Given the description of an element on the screen output the (x, y) to click on. 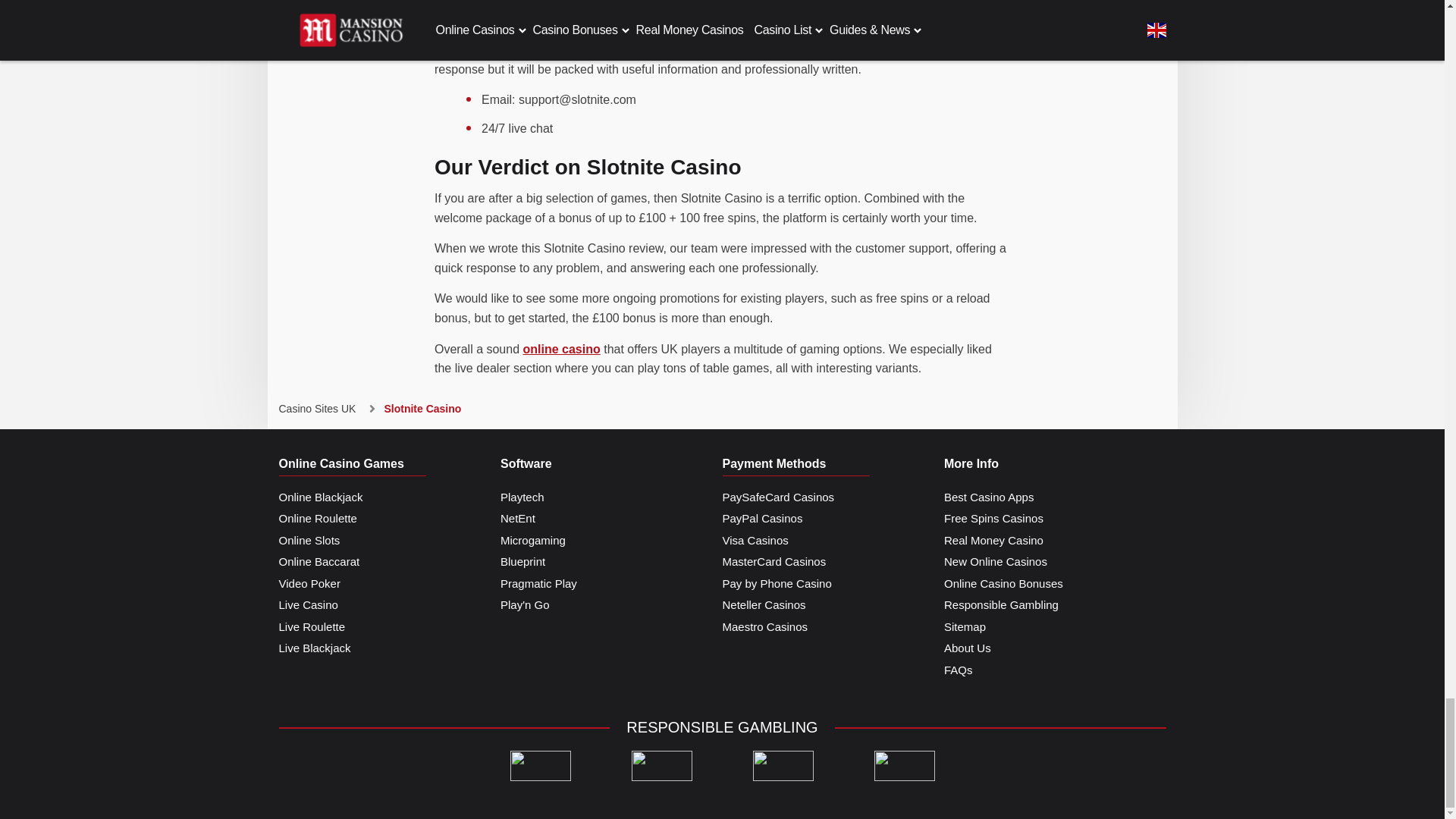
PaySafeCard Casinos (778, 497)
Real Money Casino (993, 540)
Gambling Commission (660, 766)
PayPal Casinos (762, 518)
MasterCard Casinos (773, 562)
Pay by Phone Casino (776, 584)
Maestro Casinos (765, 627)
Neteller Casinos (763, 605)
Visa Casinos (754, 540)
